Given the description of an element on the screen output the (x, y) to click on. 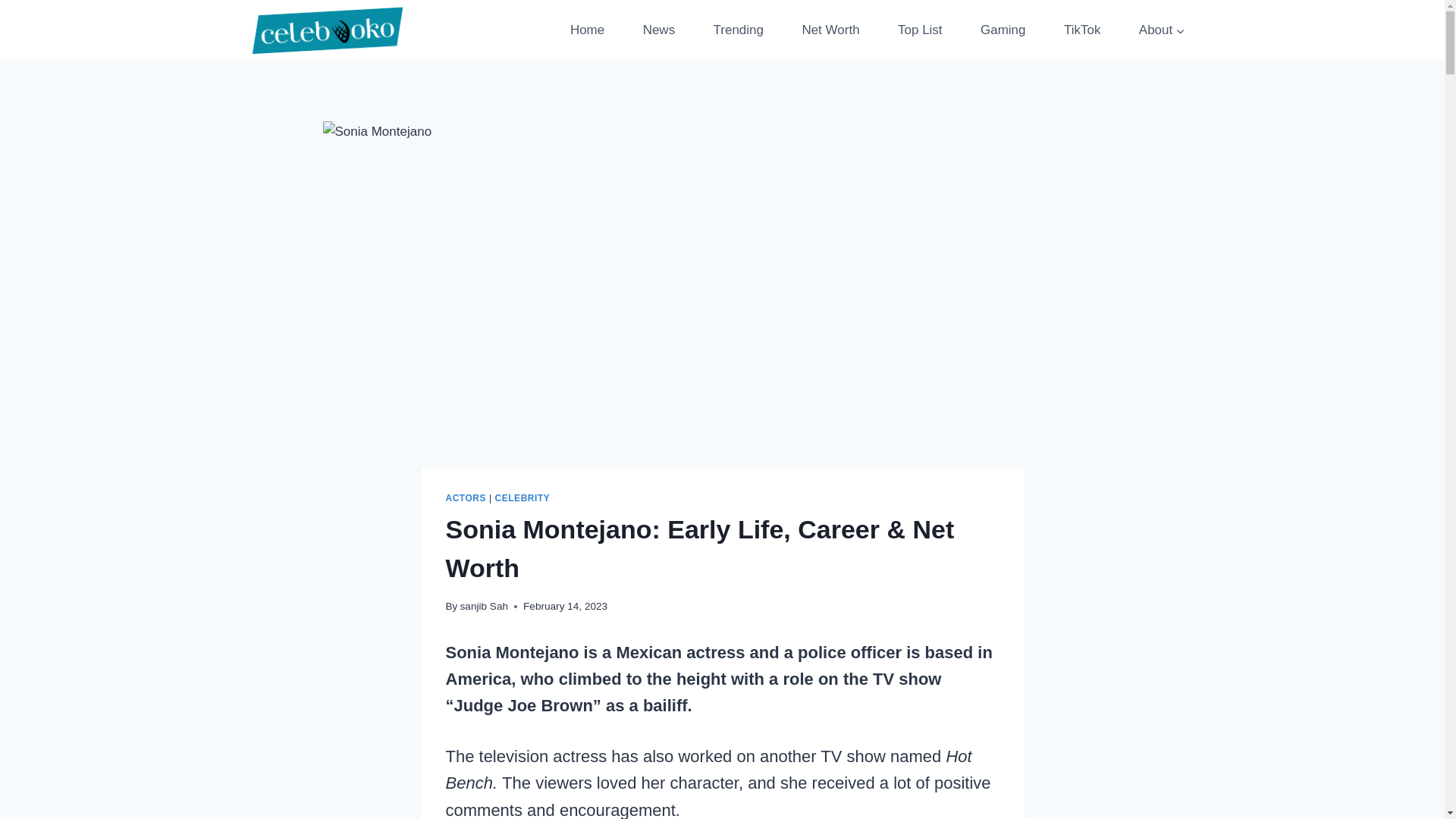
Gaming (1002, 30)
Trending (737, 30)
About (1162, 30)
sanjib Sah (484, 605)
ACTORS (465, 498)
Top List (919, 30)
Net Worth (830, 30)
CELEBRITY (522, 498)
TikTok (1082, 30)
News (658, 30)
Home (587, 30)
